Given the description of an element on the screen output the (x, y) to click on. 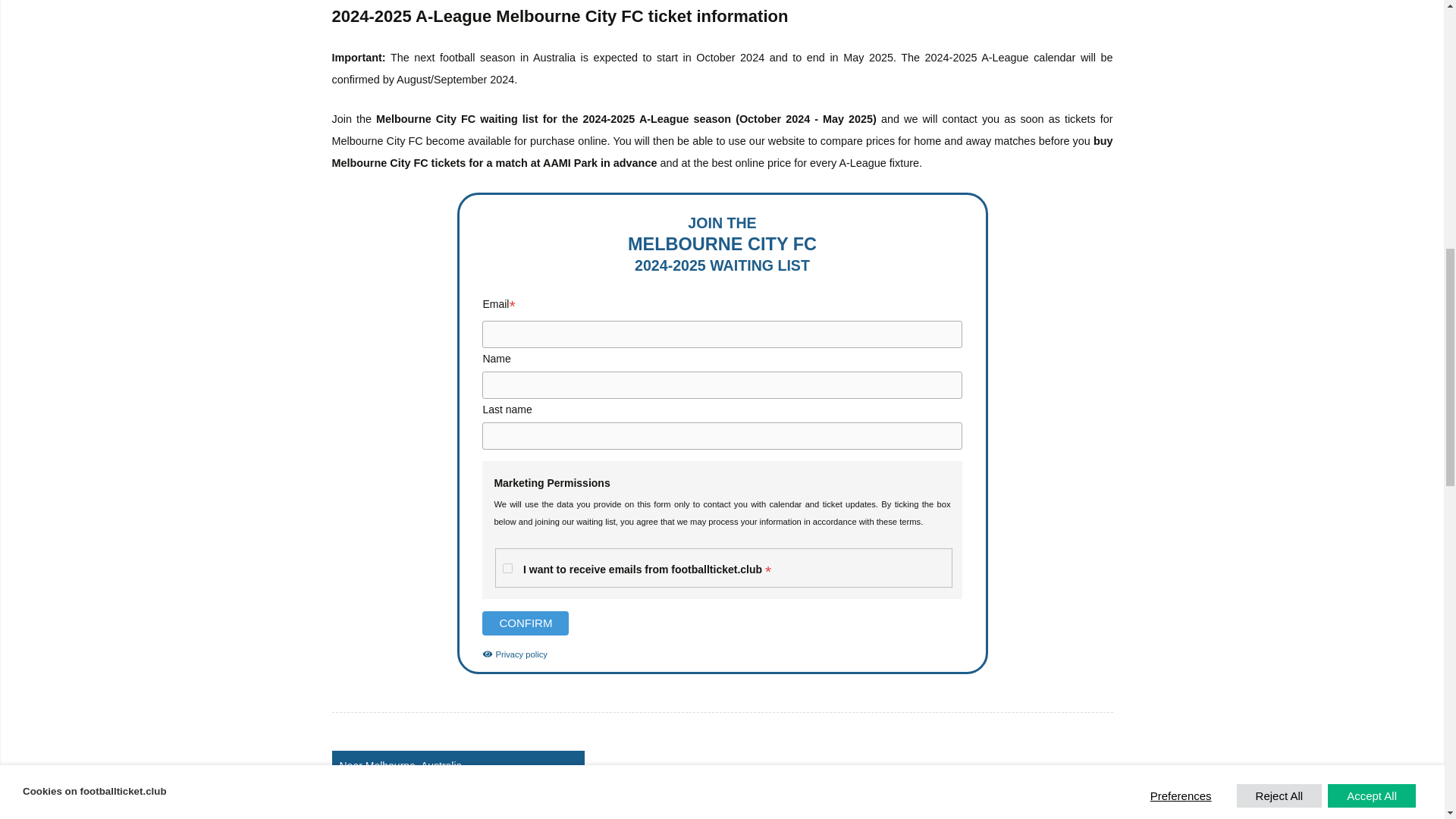
Confirm (525, 622)
Y (507, 568)
 Western Sydney Wanderers football tickets (458, 805)
